Given the description of an element on the screen output the (x, y) to click on. 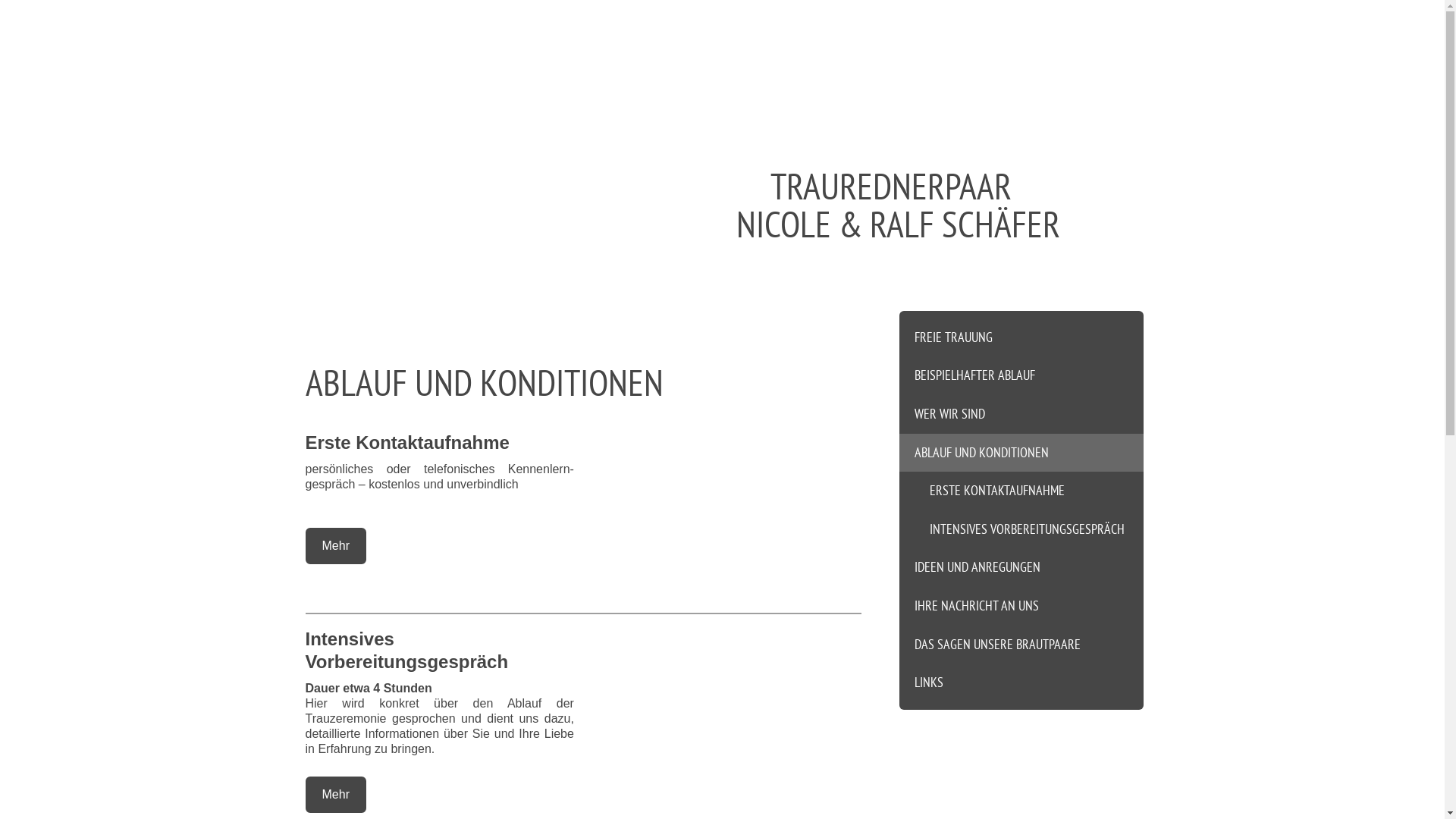
WER WIR SIND Element type: text (1021, 414)
BEISPIELHAFTER ABLAUF Element type: text (1021, 375)
STARTSEITE Element type: text (348, 43)
Mehr Element type: text (334, 545)
FREIE TRAUUNG Element type: text (1021, 333)
Mehr Element type: text (334, 794)
DAS SAGEN UNSERE BRAUTPAARE Element type: text (1021, 644)
IDEEN UND ANREGUNGEN Element type: text (1021, 567)
IHRE NACHRICHT AN UNS Element type: text (1021, 605)
LINKS Element type: text (1021, 686)
ABLAUF UND KONDITIONEN Element type: text (1021, 452)
ERSTE KONTAKTAUFNAHME Element type: text (1021, 490)
